Given the description of an element on the screen output the (x, y) to click on. 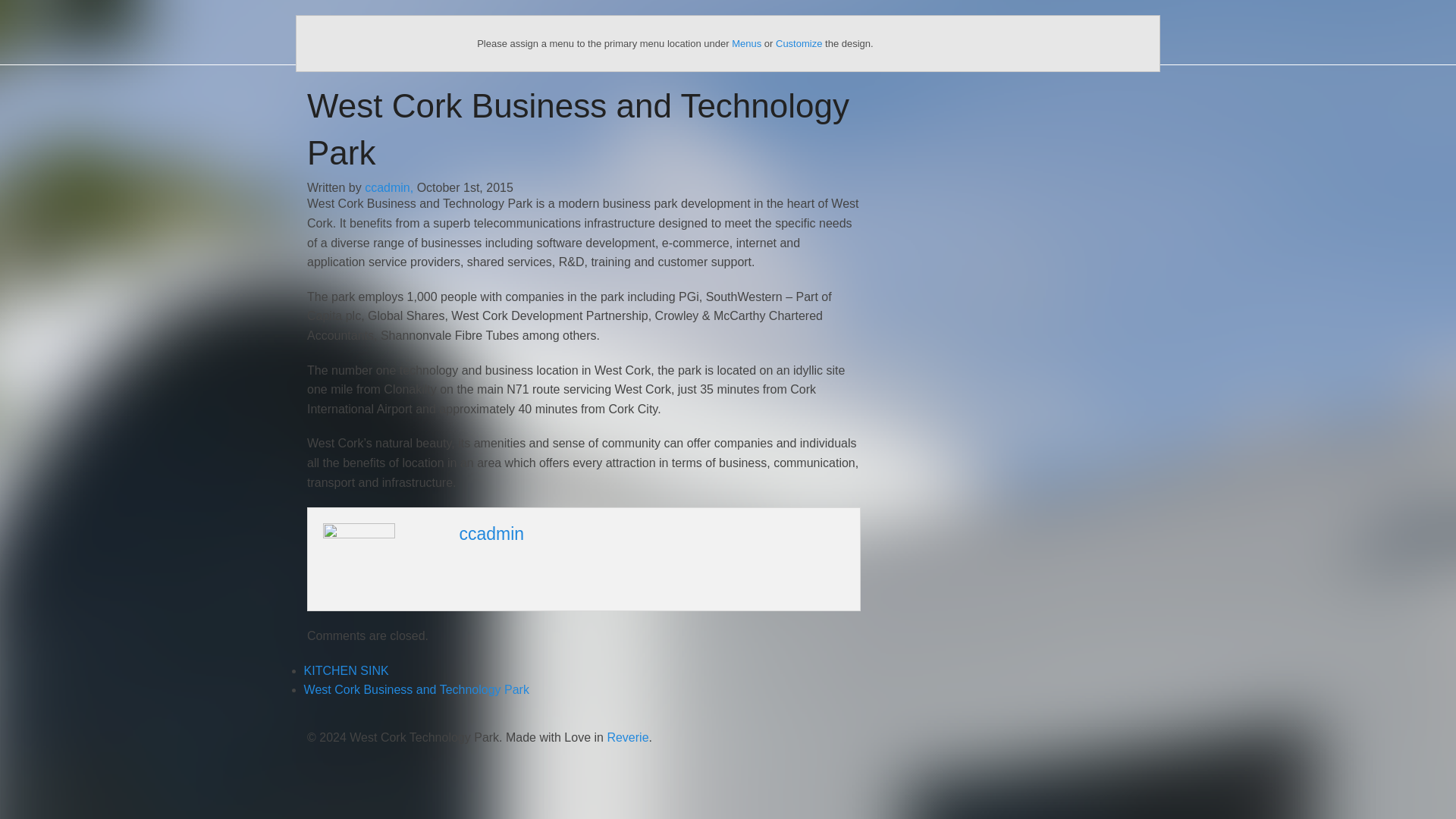
Customize (799, 43)
Reverie Framework (627, 737)
KITCHEN SINK (346, 670)
Reverie (627, 737)
Menus (746, 43)
Posts by ccadmin (492, 533)
ccadmin (492, 533)
West Cork Technology Park (386, 32)
West Cork Technology Park (386, 32)
ccadmin, (390, 187)
West Cork Business and Technology Park (416, 689)
